Given the description of an element on the screen output the (x, y) to click on. 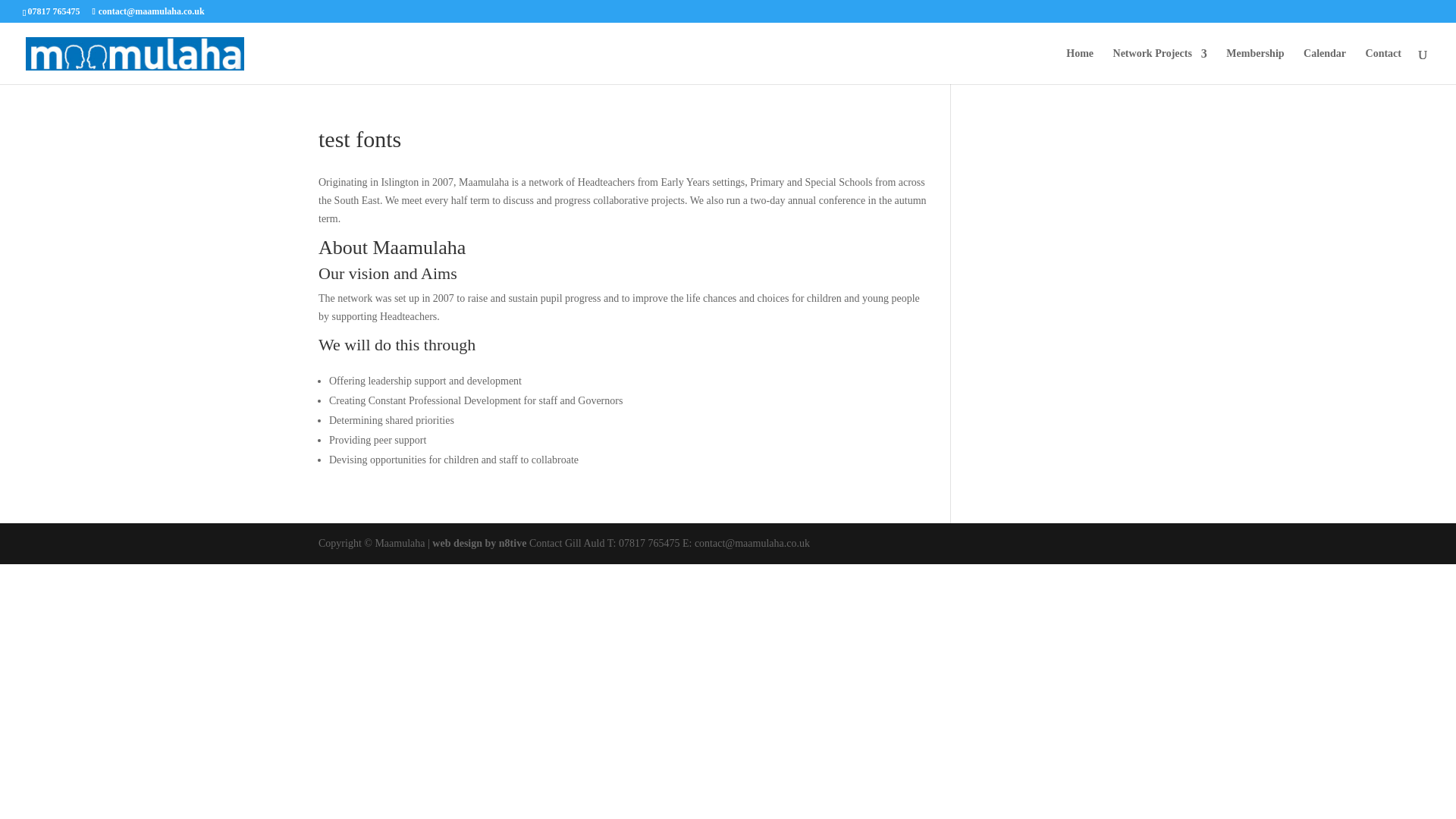
Calendar (1324, 66)
Contact (1382, 66)
Network Projects (1160, 66)
Membership (1254, 66)
North London Web Design (478, 542)
